Given the description of an element on the screen output the (x, y) to click on. 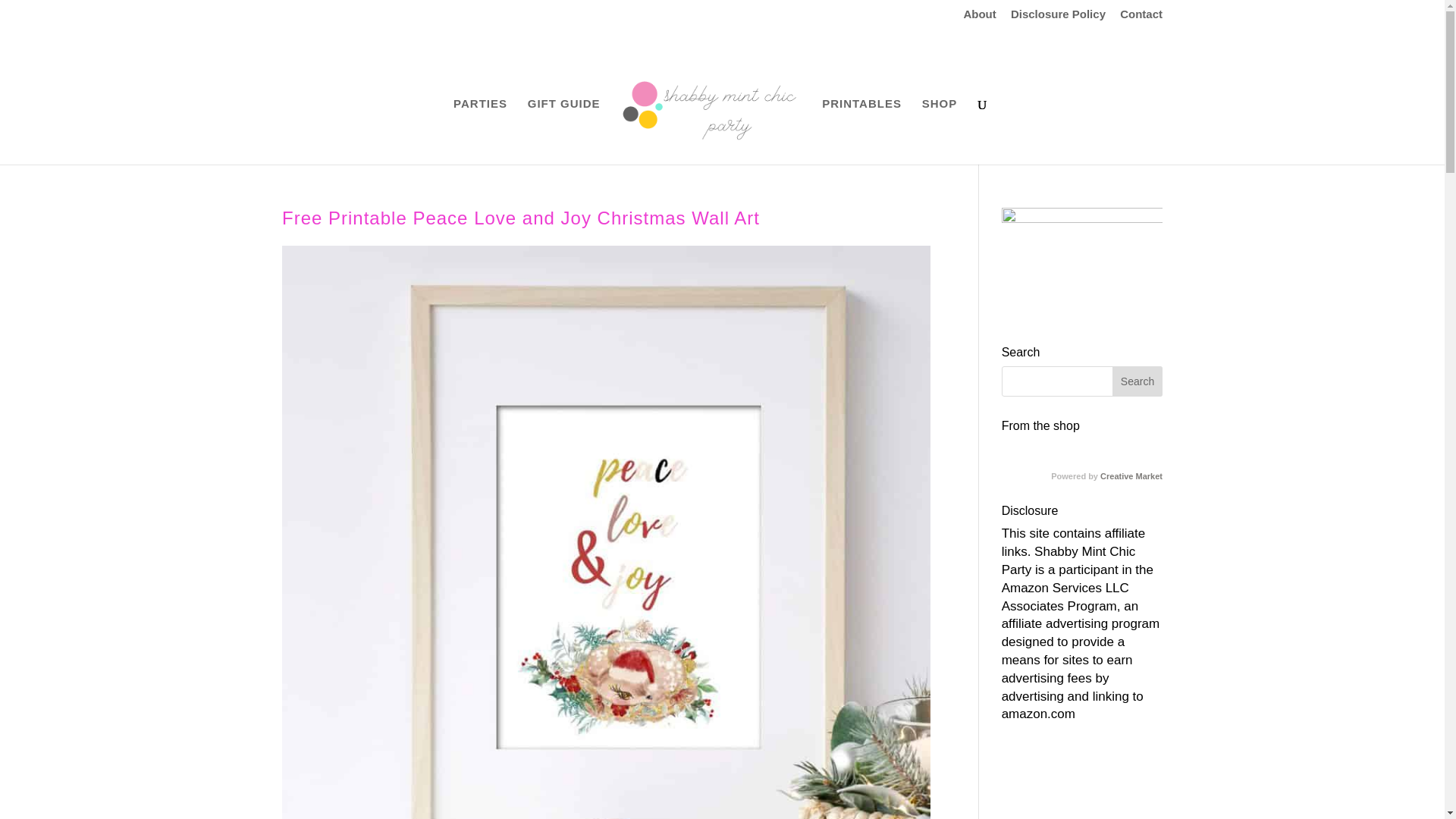
Search (1136, 381)
Free Printable Peace Love and Joy Christmas Wall Art (521, 218)
PARTIES (479, 131)
Disclosure Policy (1057, 17)
Contact (1140, 17)
PRINTABLES (861, 131)
SHOP (939, 131)
Search (1136, 381)
Creative Market (1130, 475)
About (978, 17)
GIFT GUIDE (563, 131)
